Given the description of an element on the screen output the (x, y) to click on. 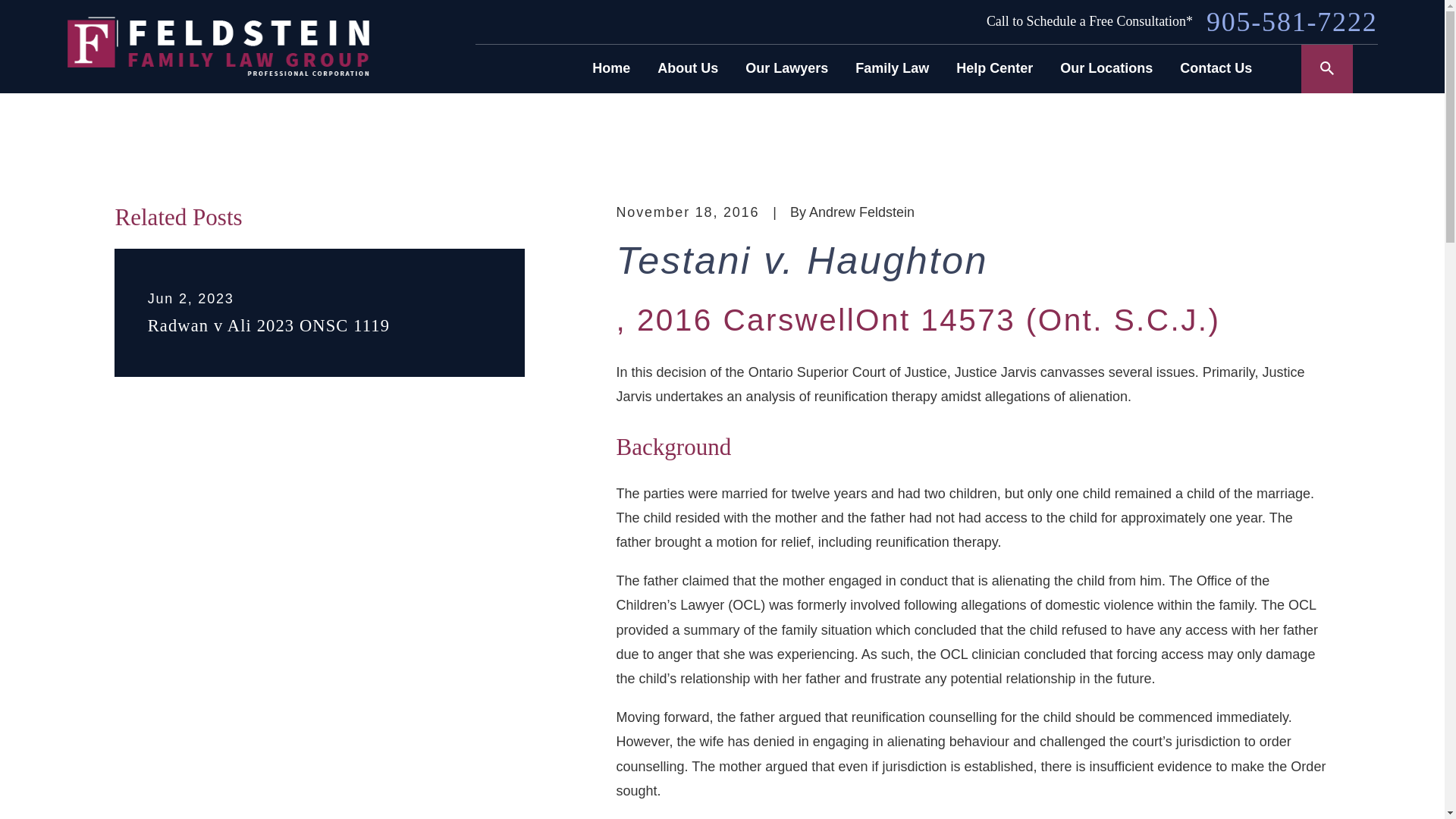
905-581-7222 (1292, 22)
Home (611, 68)
About Us (687, 68)
Feldstein Family Law Group P.C. (217, 46)
Our Lawyers (786, 68)
Home (217, 46)
Family Law (892, 68)
Search our site (1326, 68)
